Given the description of an element on the screen output the (x, y) to click on. 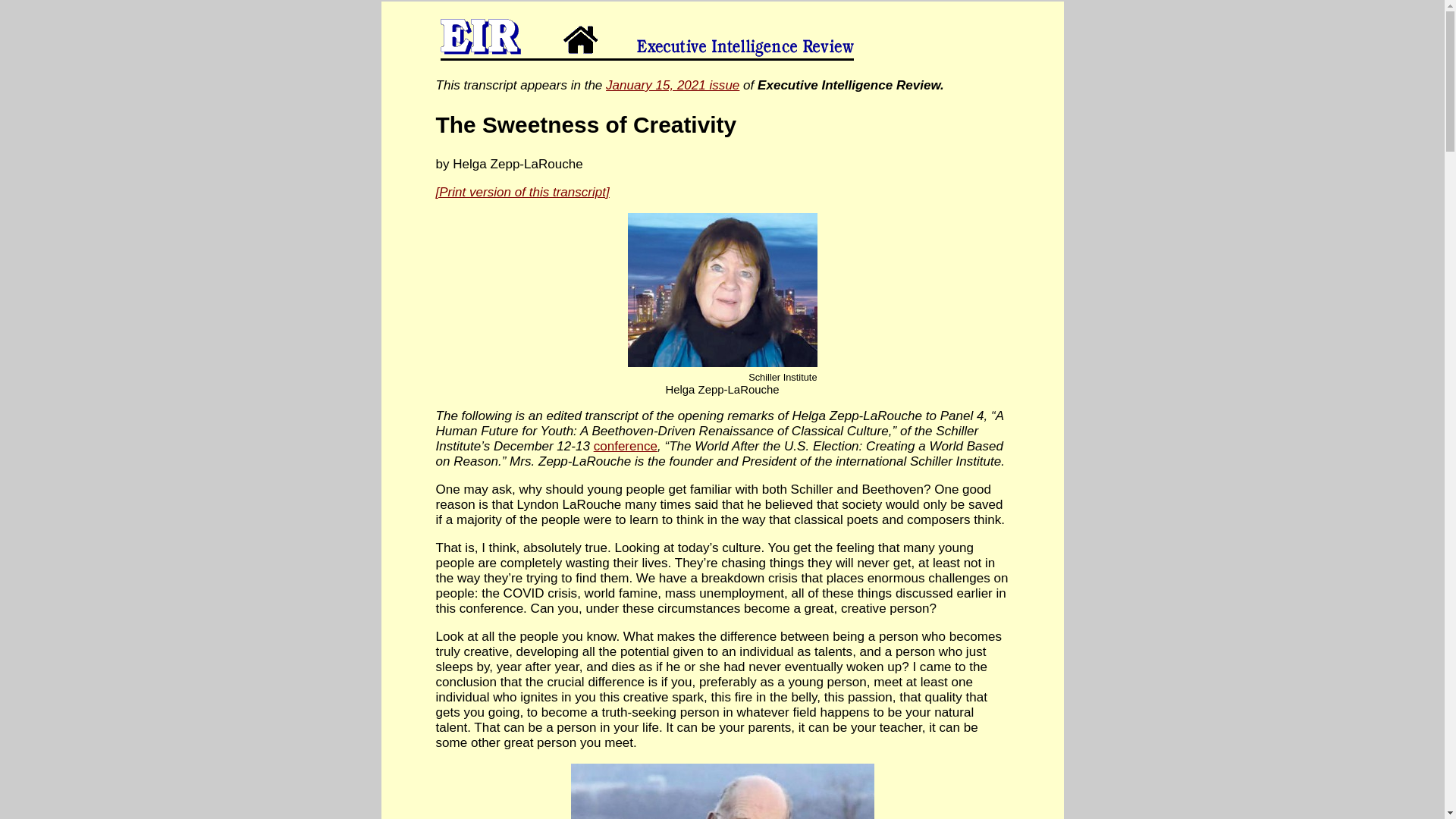
January 15, 2021 issue (672, 84)
Go to home page (748, 33)
conference (626, 445)
